Given the description of an element on the screen output the (x, y) to click on. 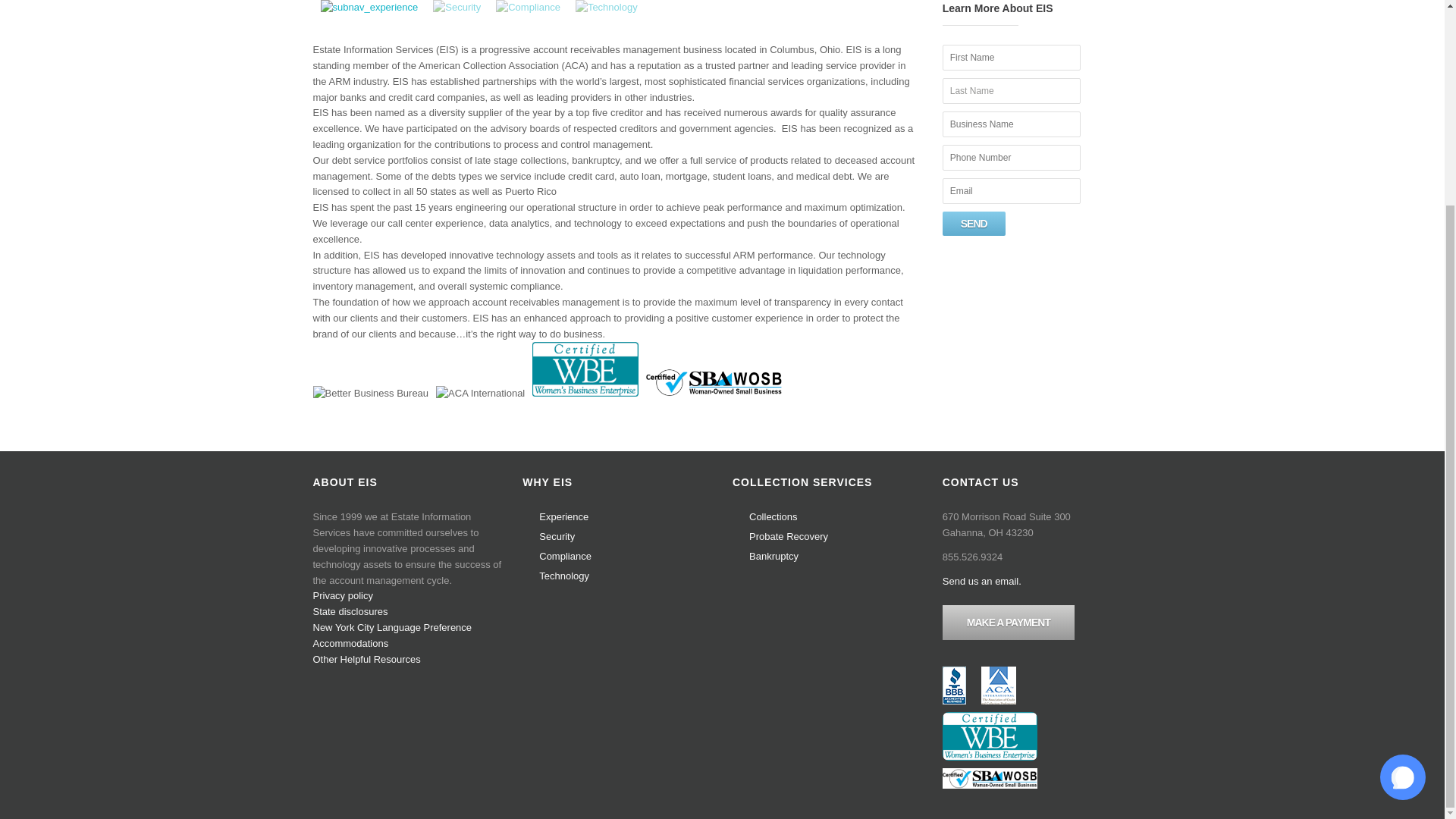
Compliance (564, 555)
Bankruptcy (773, 555)
State disclosures (350, 611)
Experience (563, 516)
Send us an email. (982, 581)
Technology (563, 575)
Compliance (527, 7)
Last Name (1011, 90)
Collections (773, 516)
Start (1239, 469)
